Given the description of an element on the screen output the (x, y) to click on. 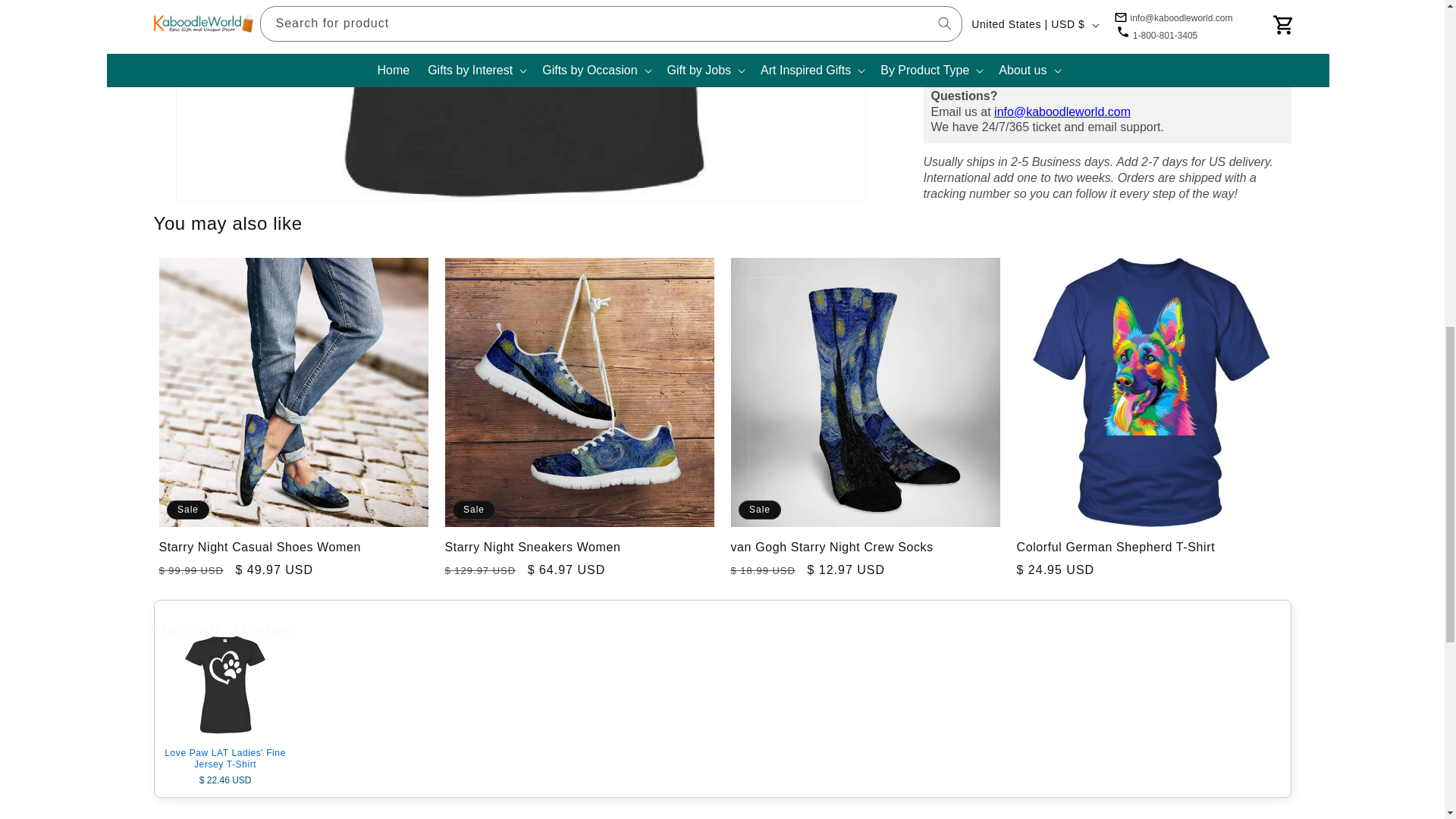
Product reviews widget (722, 812)
Recently Viewed (722, 628)
